Given the description of an element on the screen output the (x, y) to click on. 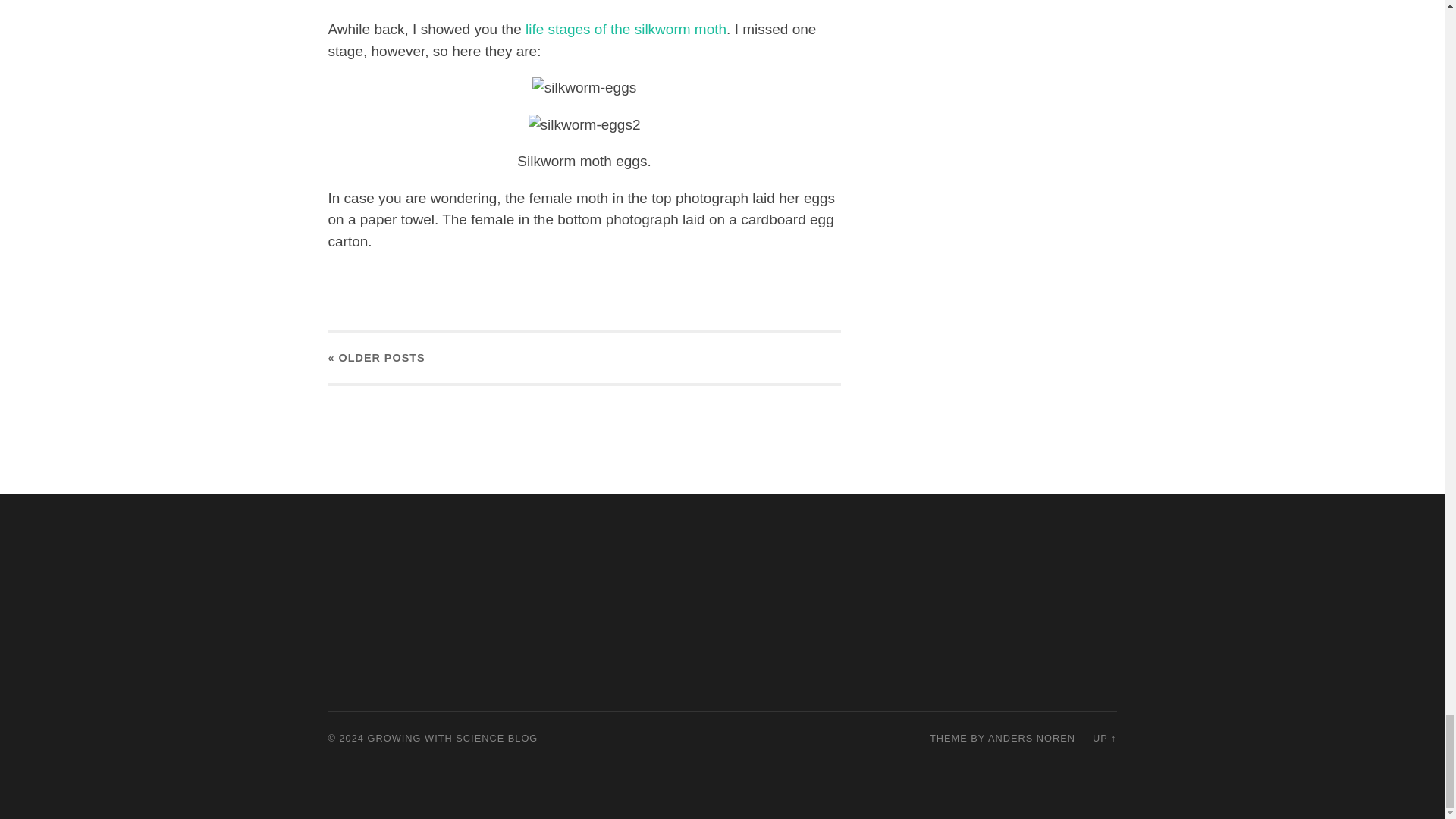
silkworm-eggs (584, 87)
To the top (1104, 737)
silkworm-eggs2 (583, 125)
